Given the description of an element on the screen output the (x, y) to click on. 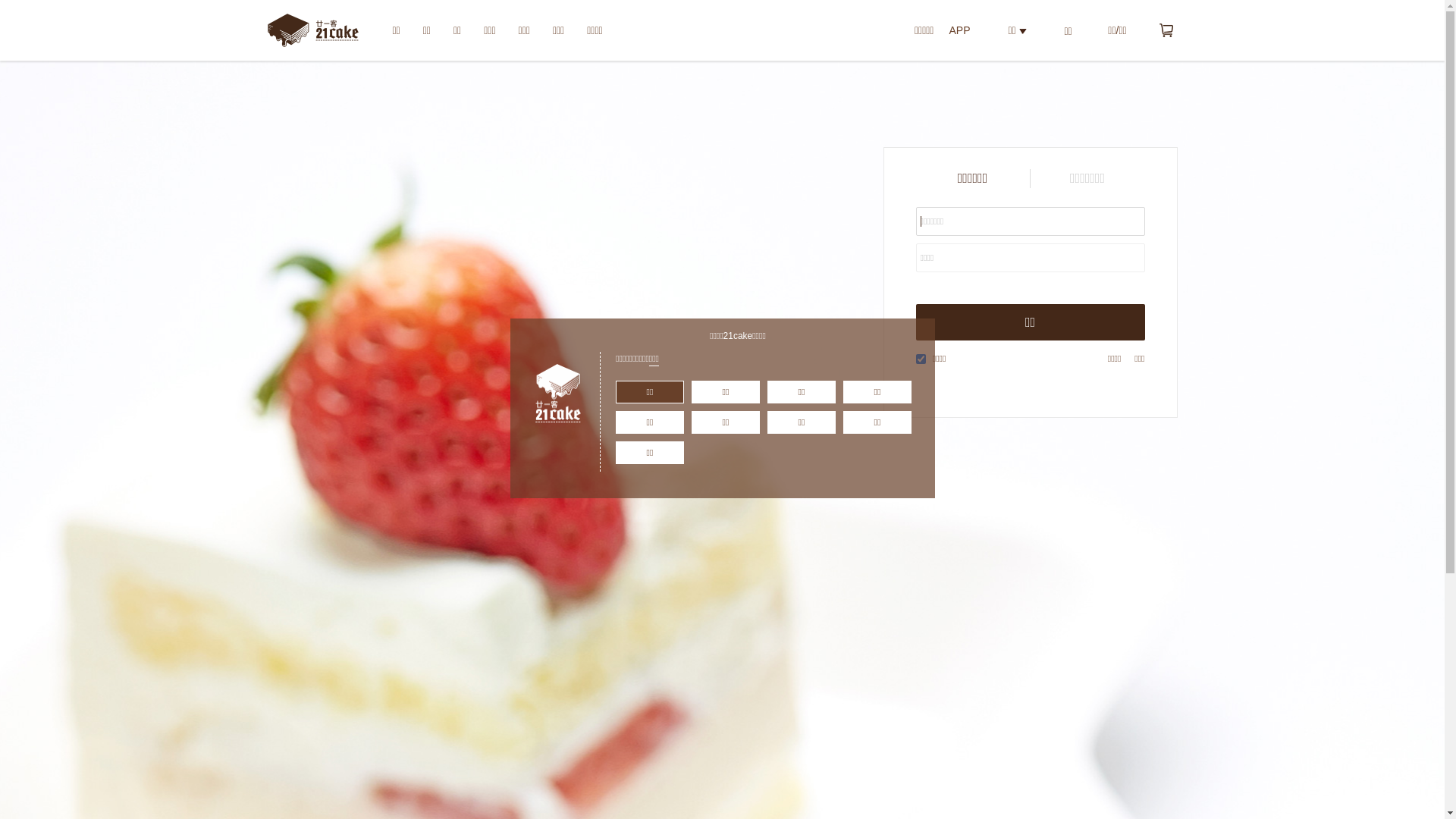
APP Element type: text (958, 30)
